Given the description of an element on the screen output the (x, y) to click on. 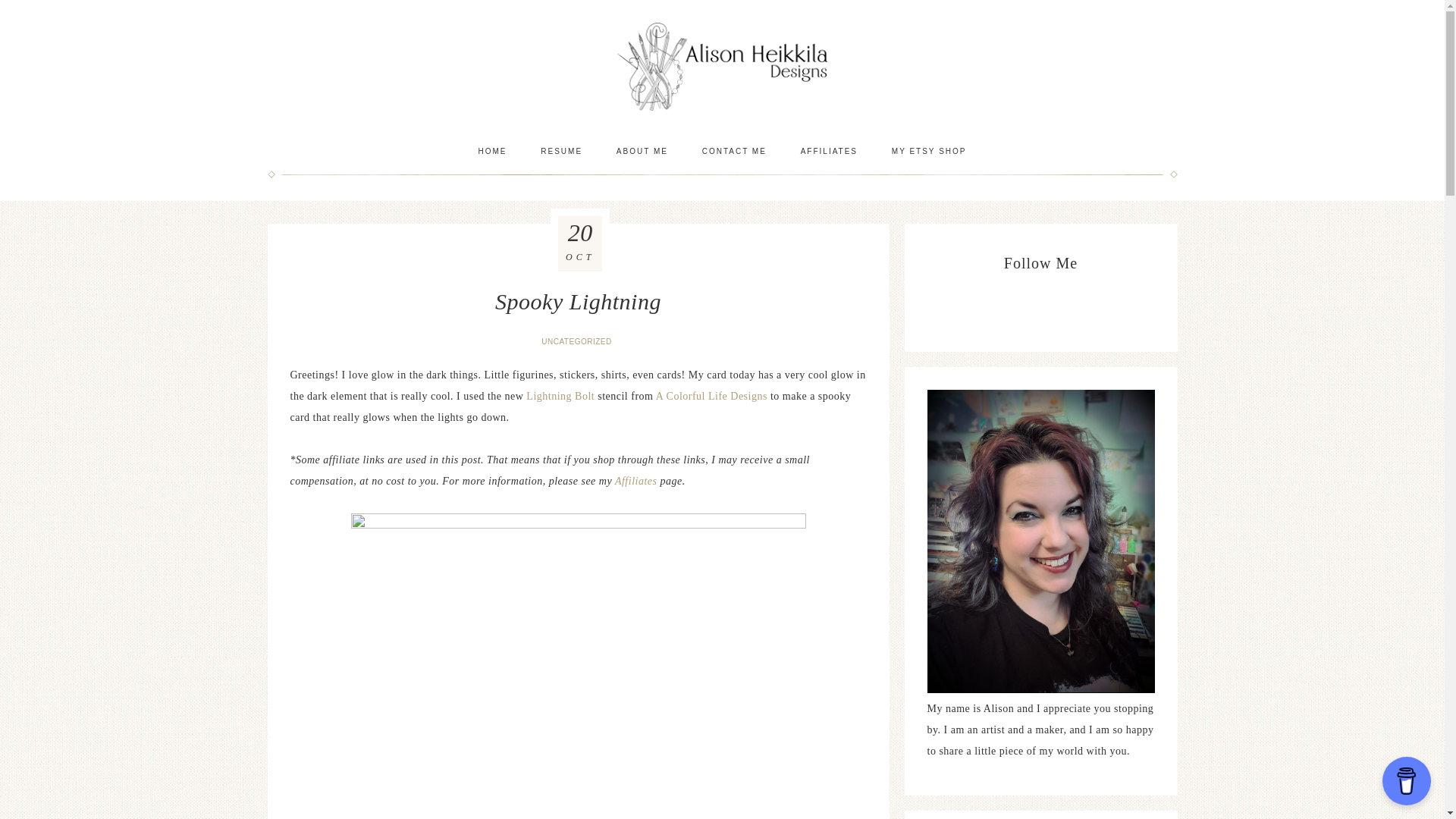
CONTACT ME (734, 151)
HOME (492, 151)
Lightning Bolt (559, 396)
AFFILIATES (829, 151)
Affiliates (637, 480)
MY ETSY SHOP (928, 151)
RESUME (560, 151)
A Colorful Life Designs (711, 396)
ALISON HEIKKILA DESIGNS (722, 65)
ABOUT ME (641, 151)
UNCATEGORIZED (577, 341)
